Given the description of an element on the screen output the (x, y) to click on. 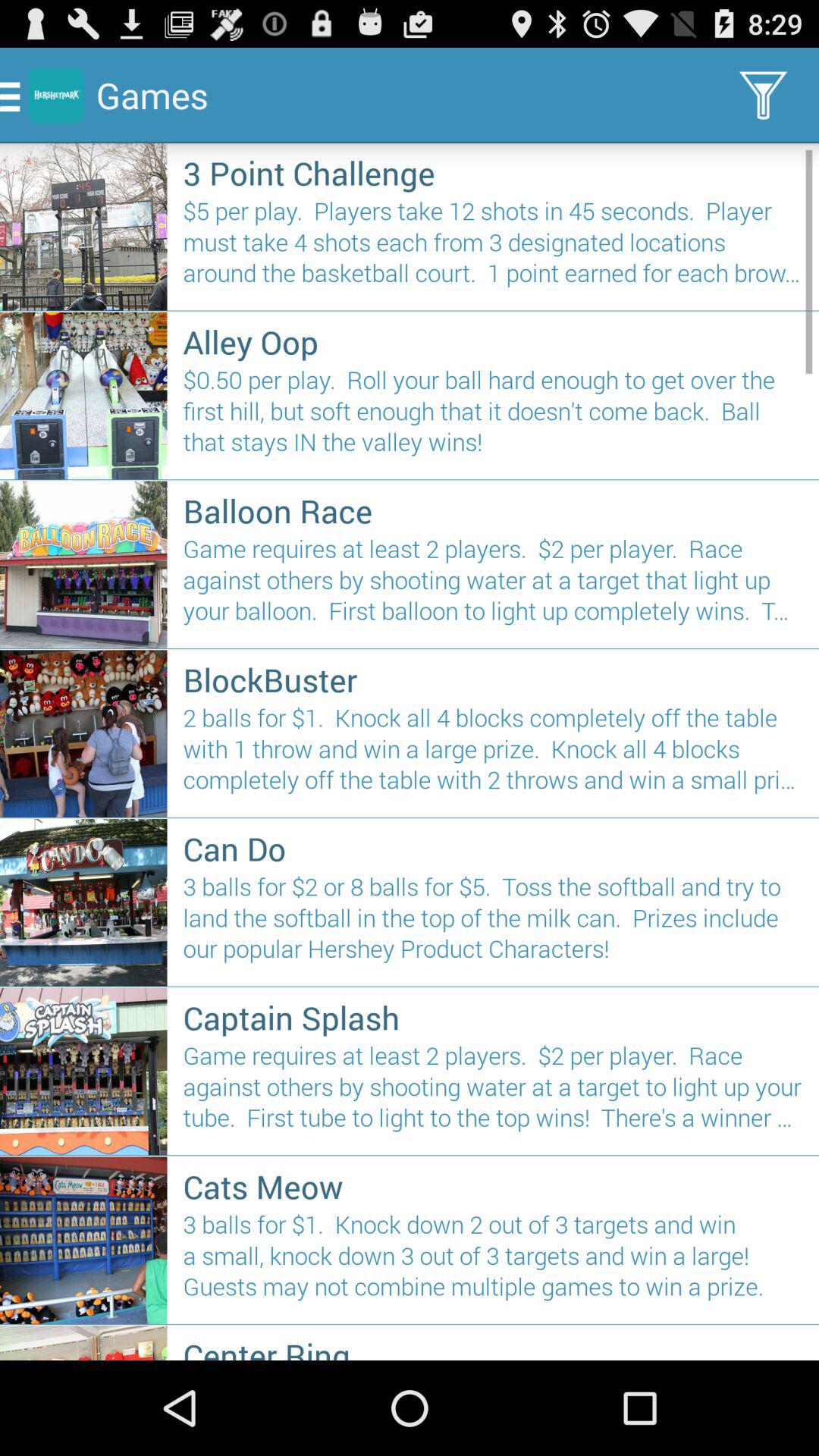
open the icon above the 3 balls for (493, 1186)
